Given the description of an element on the screen output the (x, y) to click on. 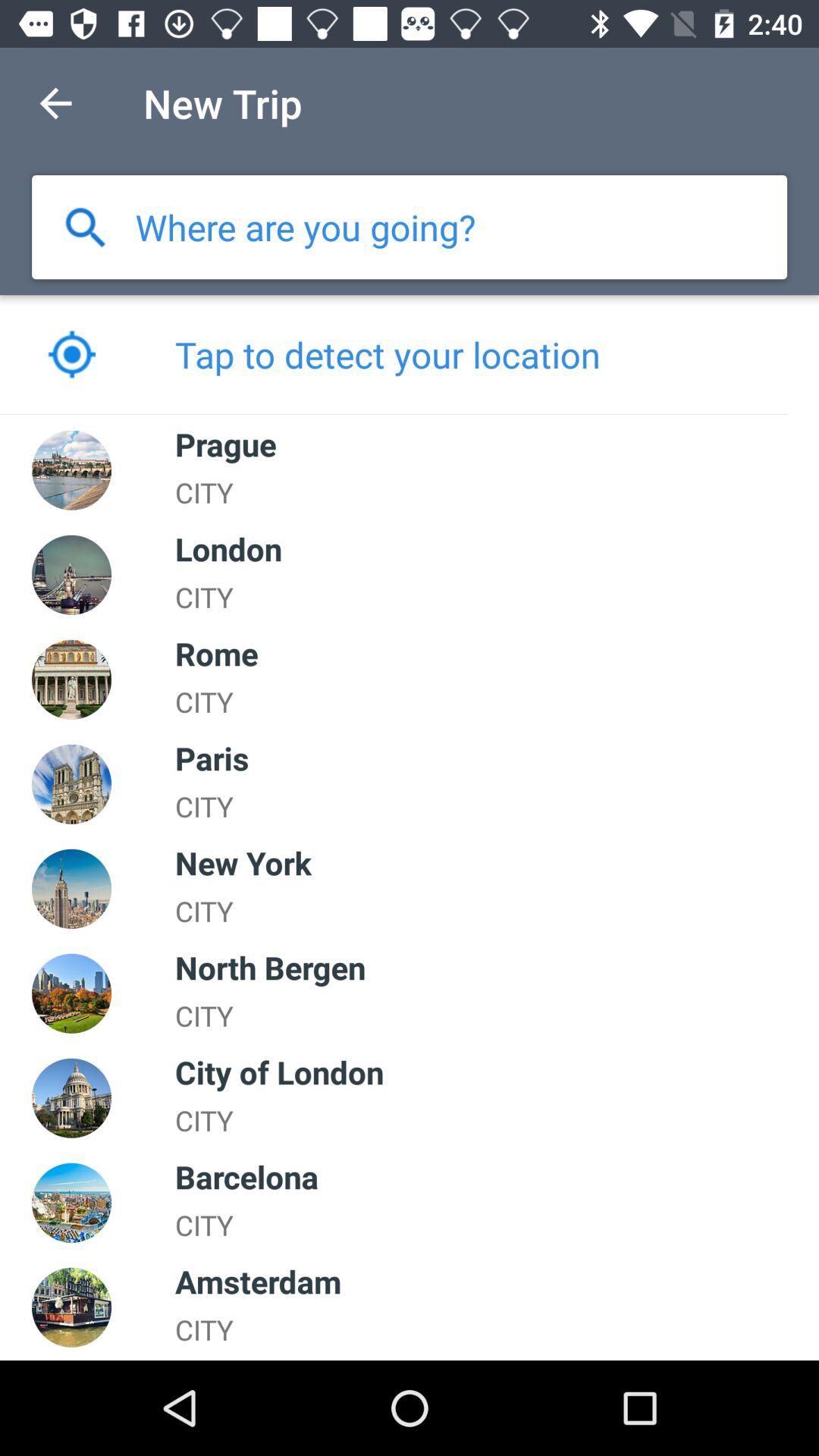
search for city (85, 227)
